Given the description of an element on the screen output the (x, y) to click on. 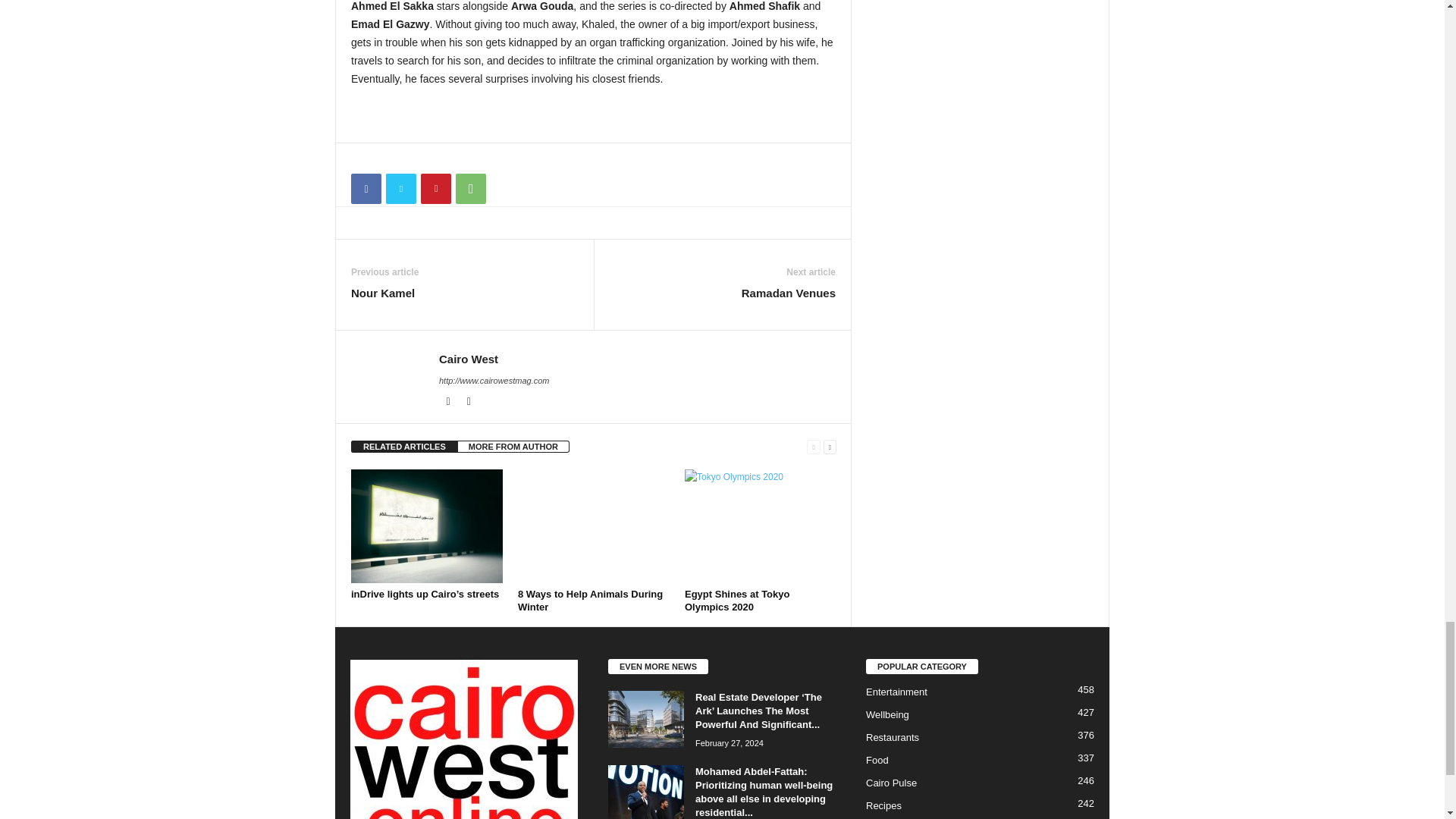
Twitter (400, 188)
Twitter (468, 401)
Pinterest (435, 188)
Facebook (449, 401)
Facebook (365, 188)
WhatsApp (470, 188)
